Given the description of an element on the screen output the (x, y) to click on. 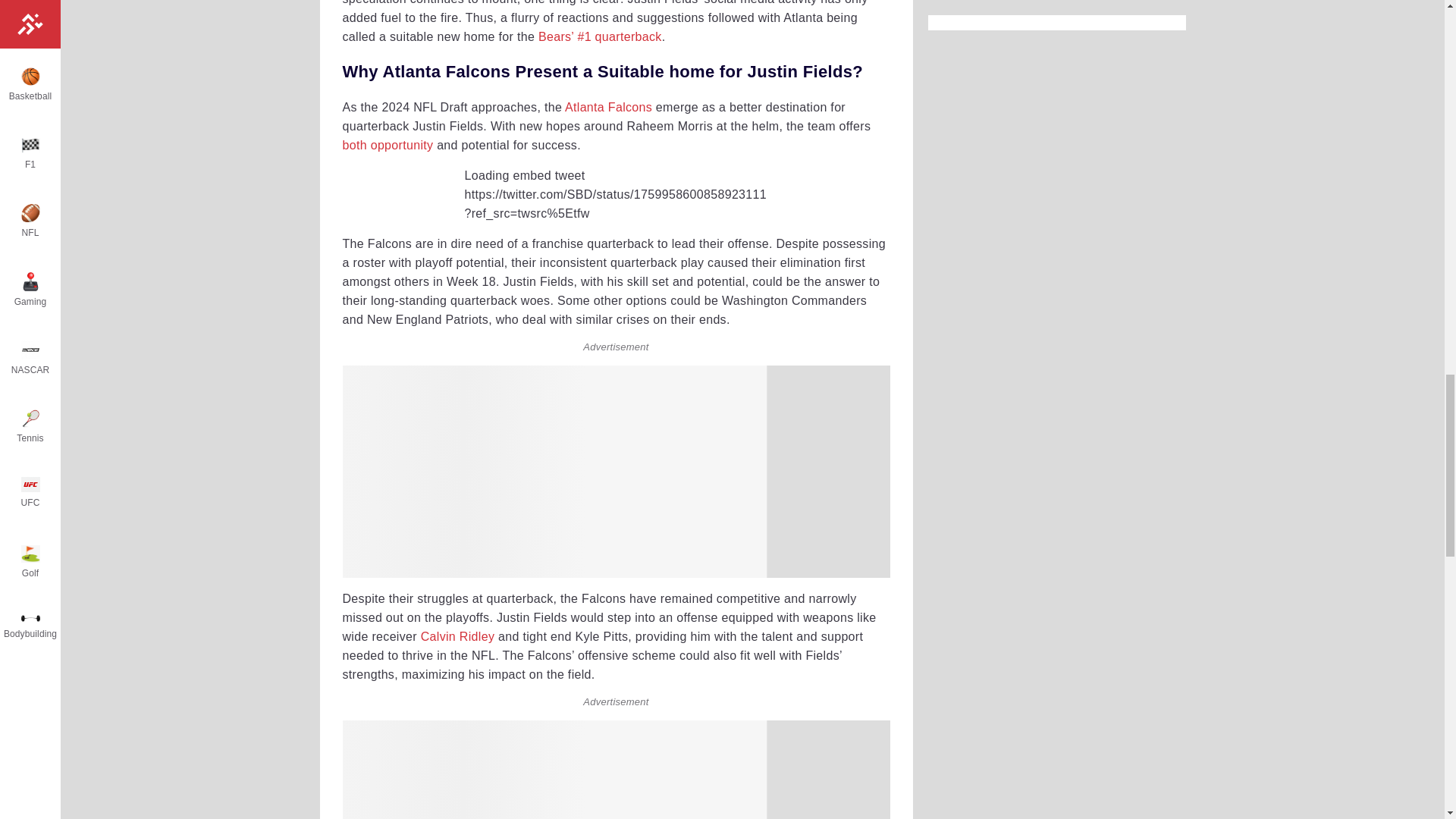
Atlanta Falcons (608, 106)
Calvin Ridley (457, 635)
both opportunity (387, 144)
